Given the description of an element on the screen output the (x, y) to click on. 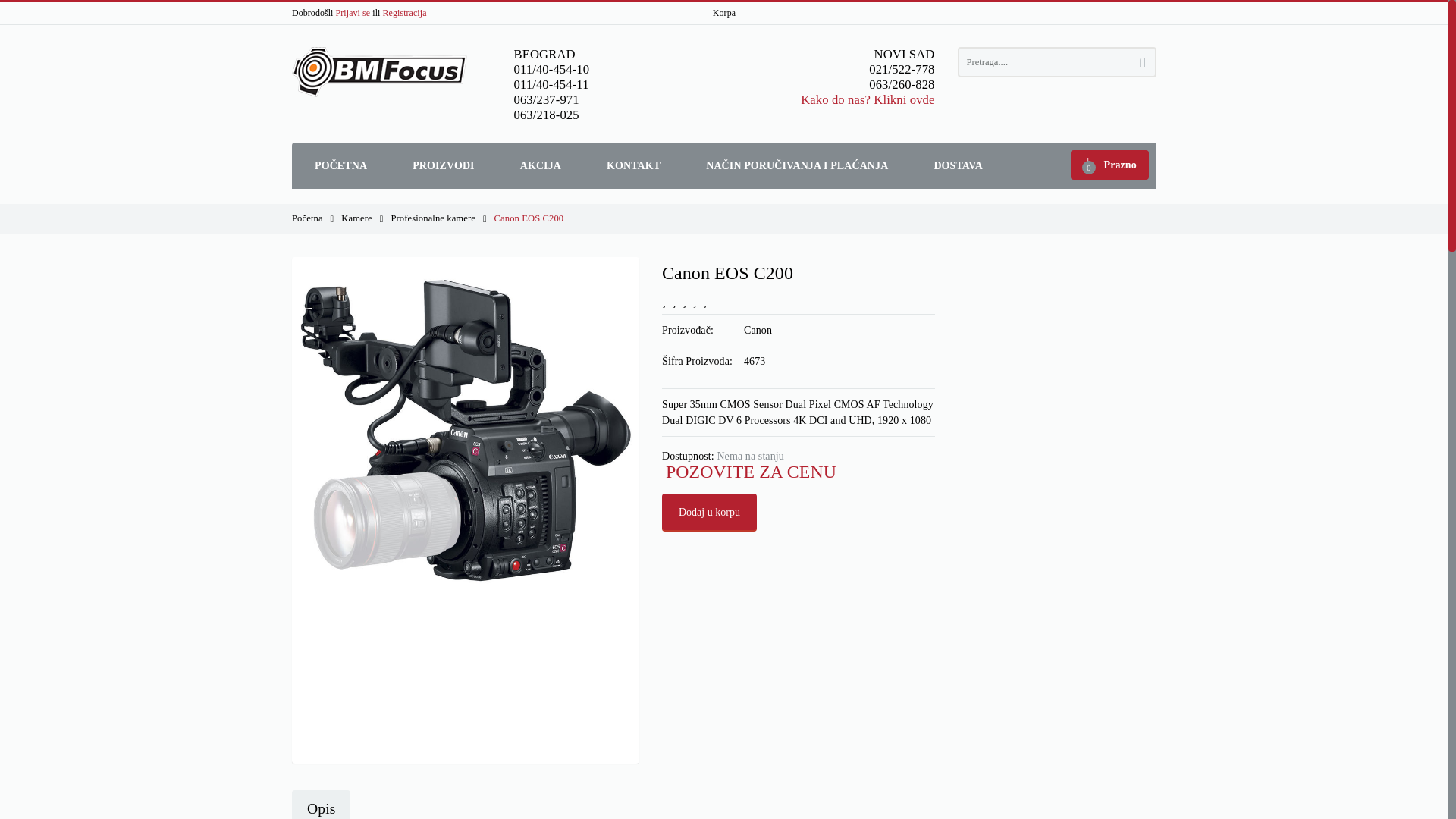
Registracija (404, 12)
Korpa (724, 12)
PROIZVODI (443, 165)
Kako do nas? Klikni ovde (867, 99)
Prijavi se (353, 12)
